Given the description of an element on the screen output the (x, y) to click on. 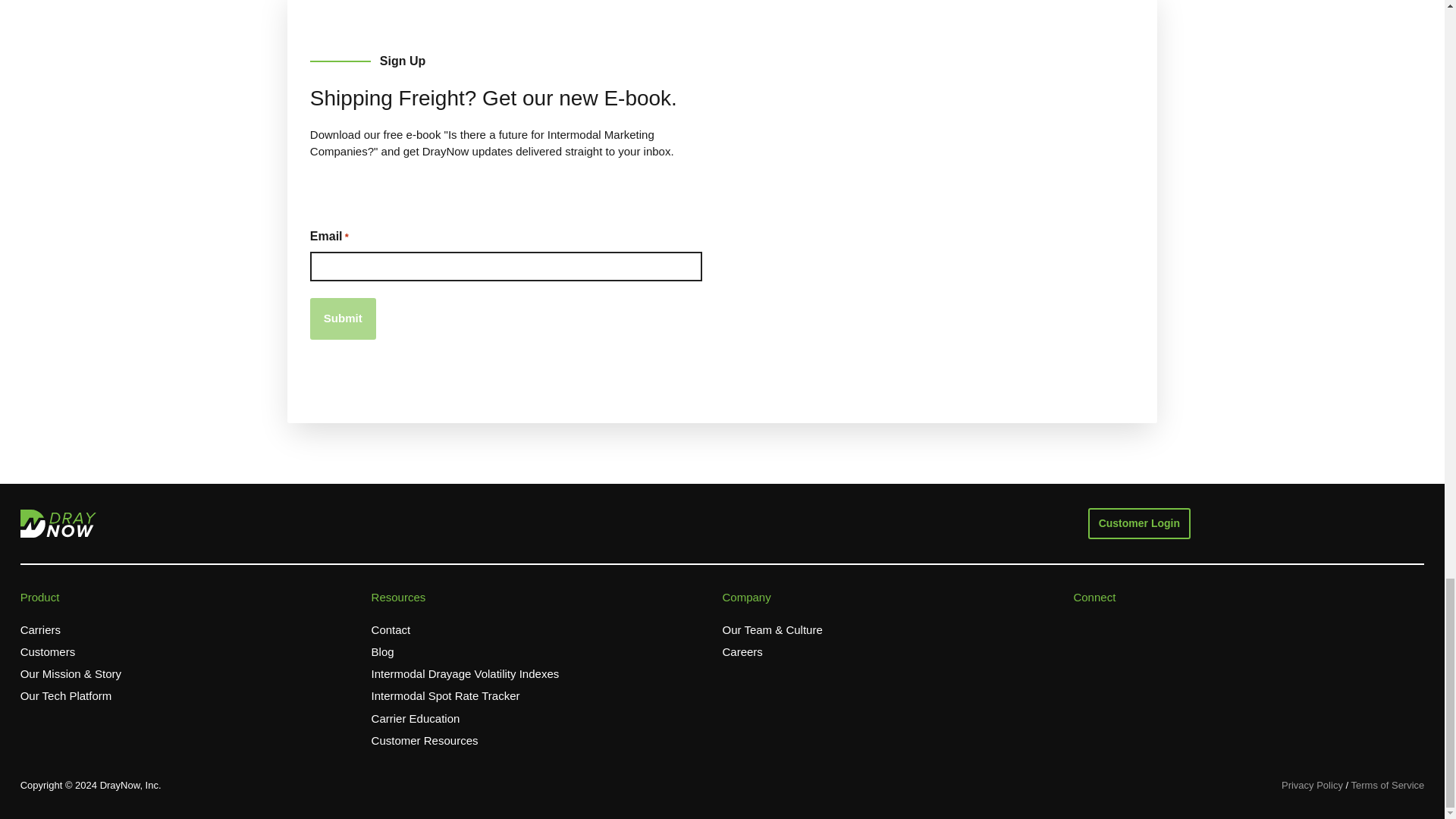
Submit (342, 318)
Intermodal Spot Rate Tracker (445, 696)
Contact (390, 630)
Blog (382, 651)
Customers (47, 651)
Intermodal Drayage Volatility Indexes (465, 674)
linkedin logo (1171, 626)
Our Tech Platform (66, 696)
twitter logo (1111, 626)
Carriers (40, 630)
